Given the description of an element on the screen output the (x, y) to click on. 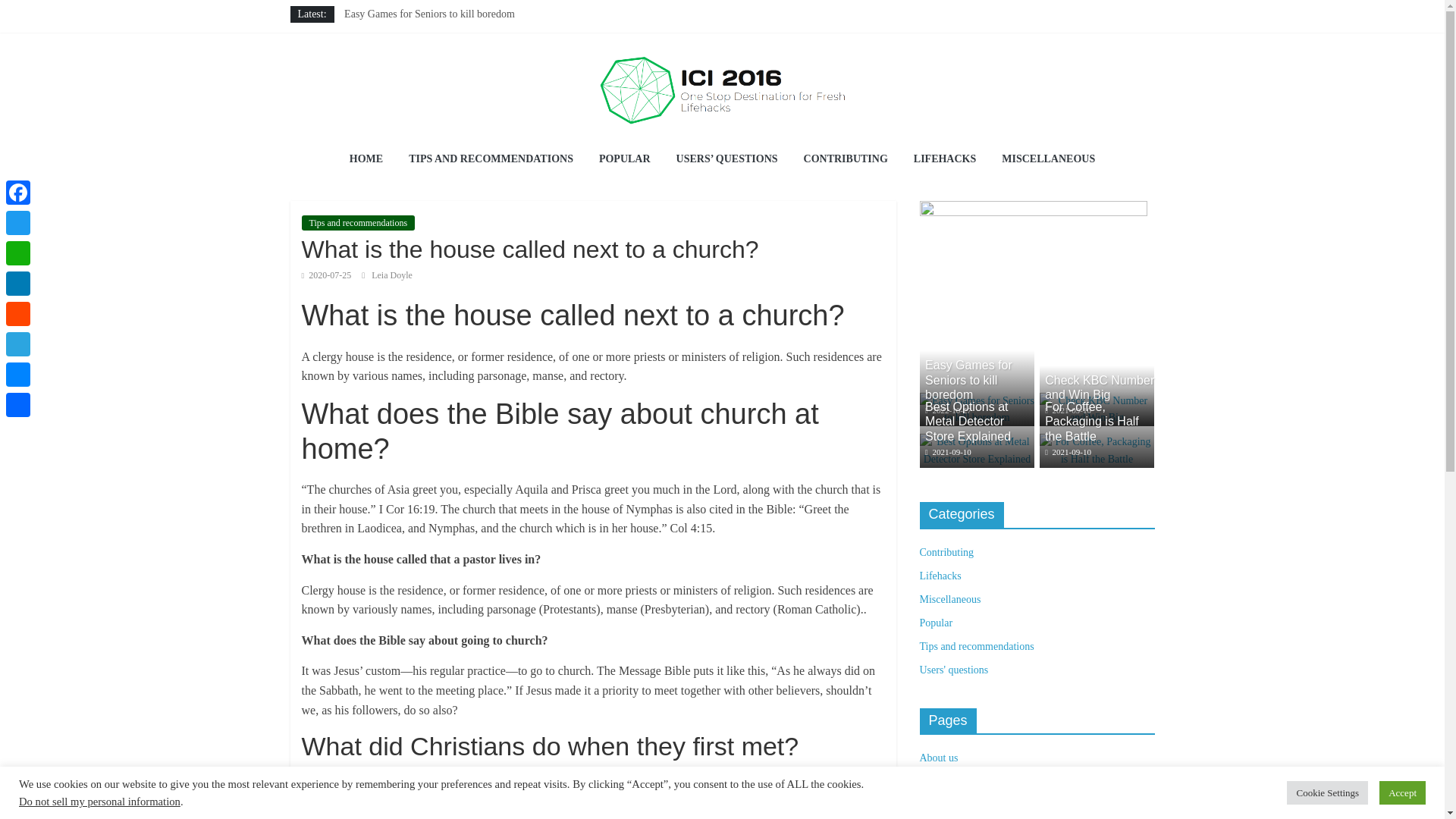
Easy Games for Seniors to kill boredom (967, 379)
HOME (365, 159)
POPULAR (625, 159)
Leia Doyle (391, 275)
Easy Games for Seniors to kill boredom (975, 400)
Easy Games for Seniors to kill boredom (975, 409)
Easy Games for Seniors to kill boredom (429, 13)
2020-07-25 (326, 275)
LIFEHACKS (944, 159)
Check KBC Number and Win Big (1099, 387)
CONTRIBUTING (845, 159)
